Given the description of an element on the screen output the (x, y) to click on. 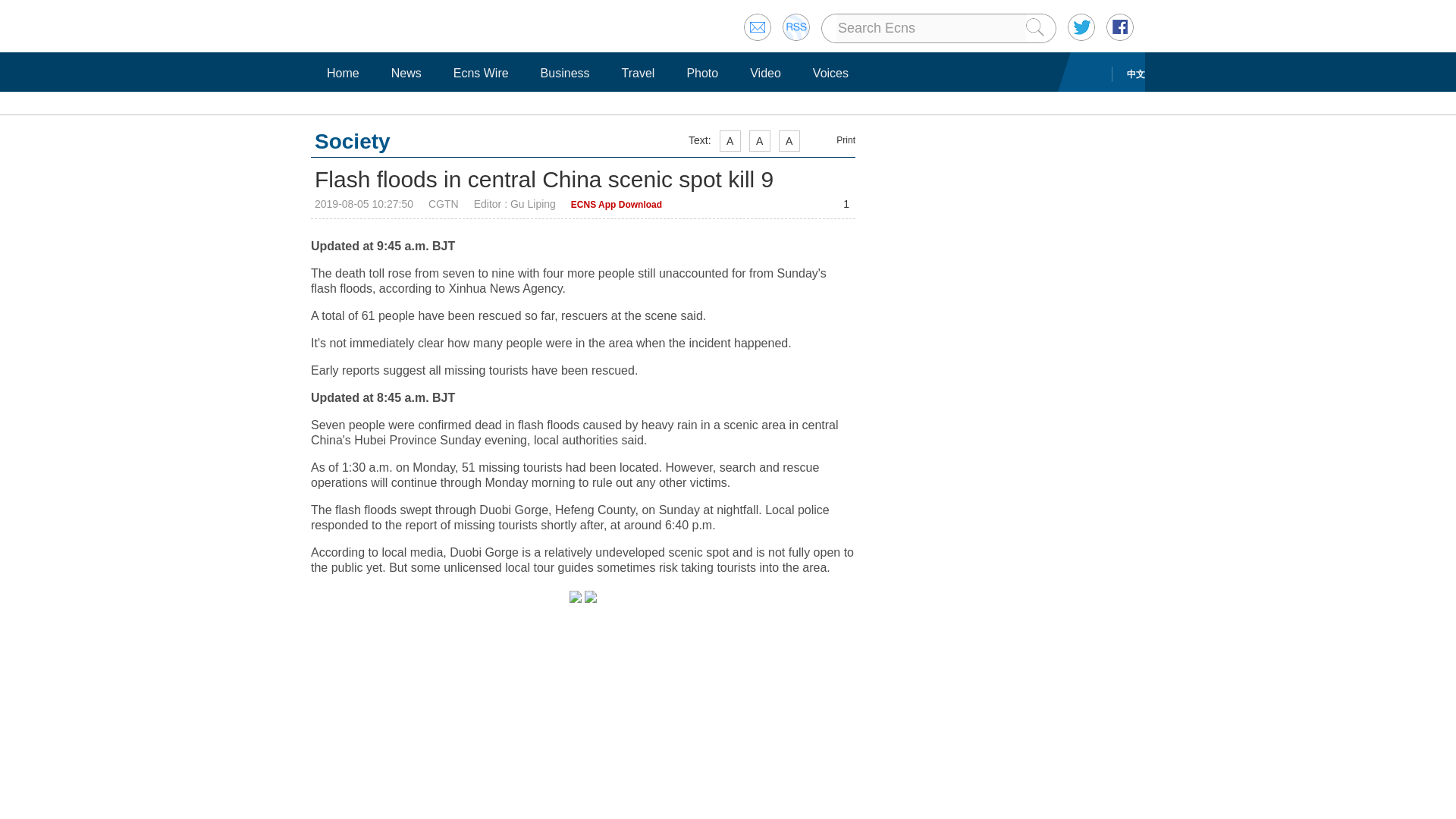
Photo (702, 73)
Video (765, 73)
Business (565, 73)
News (405, 73)
Home (343, 73)
Print (836, 139)
Travel (637, 73)
Search Ecns (930, 27)
ECNS App Download (616, 204)
Voices (831, 73)
Ecns Wire (480, 73)
